Given the description of an element on the screen output the (x, y) to click on. 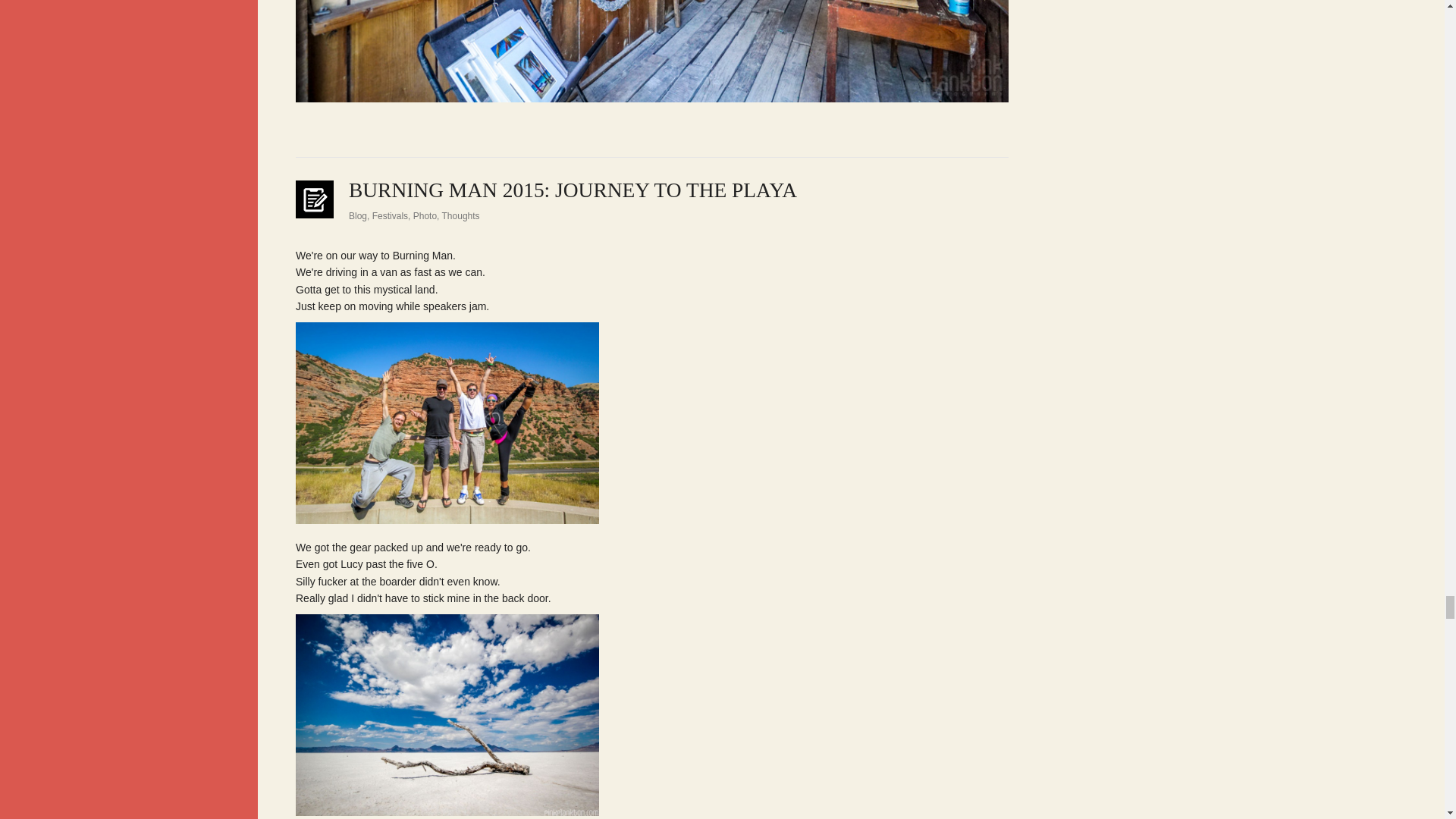
Burning Man 2015: Journey to the Playa (572, 190)
